Given the description of an element on the screen output the (x, y) to click on. 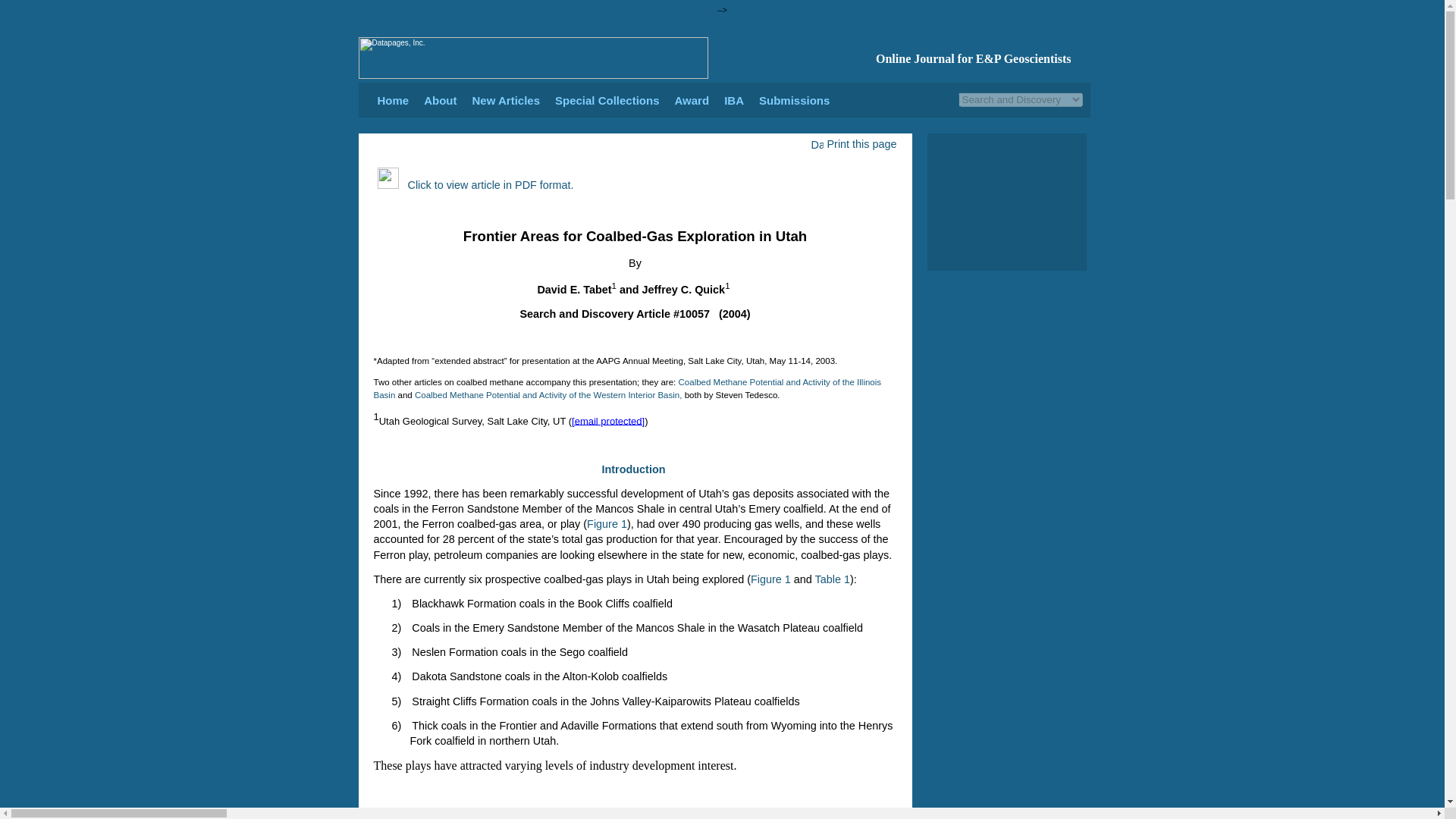
  Click to view article in PDF format. (487, 184)
Submissions (793, 100)
Home (393, 100)
New Articles (505, 100)
IBA (733, 100)
Award (692, 100)
Special Collections (606, 100)
Print this page (852, 143)
About (440, 100)
Coalbed Methane Potential and Activity of the Illinois Basin (626, 387)
